Given the description of an element on the screen output the (x, y) to click on. 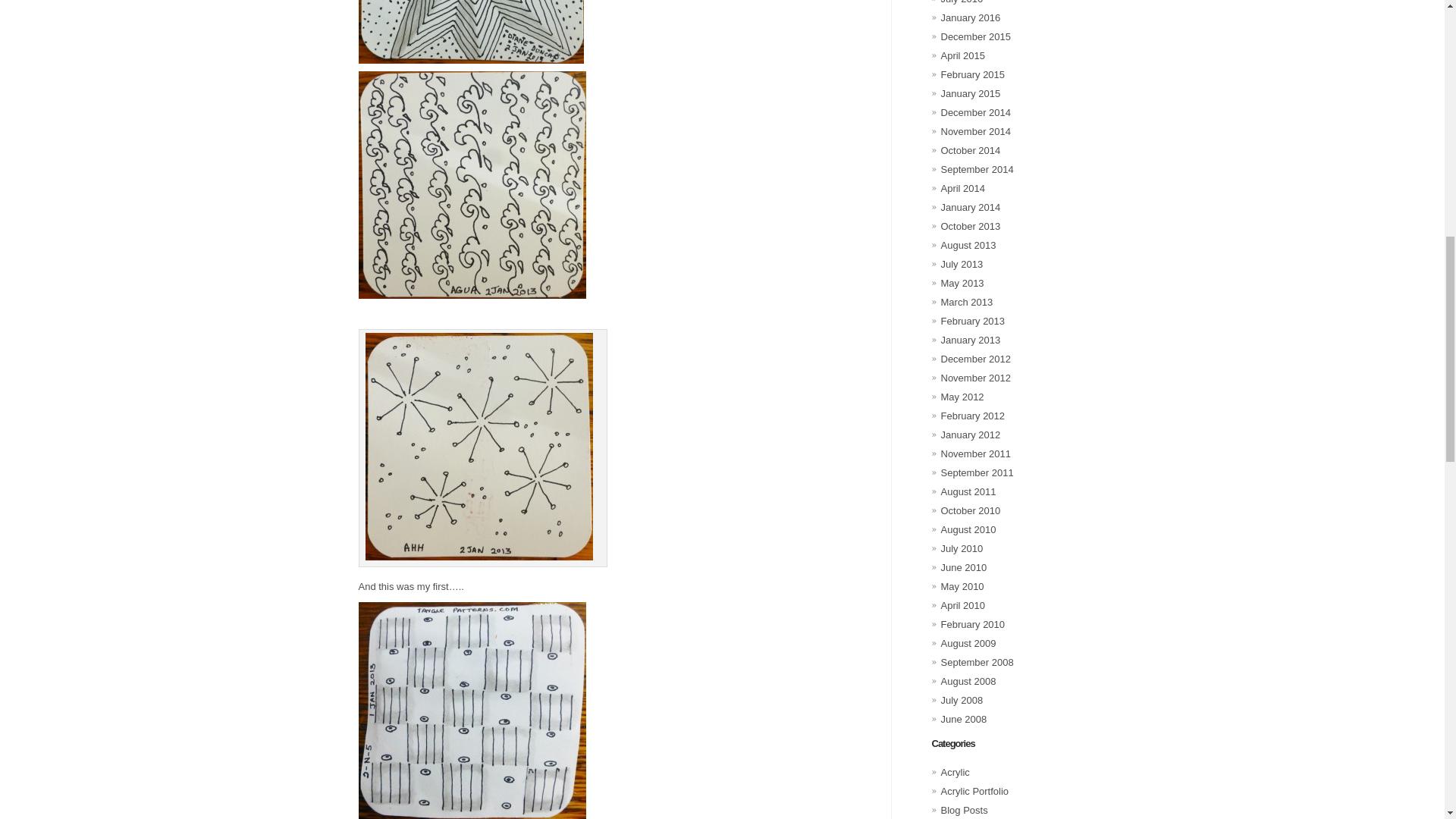
Tangle - 2-N-5 (471, 710)
Tangle - Agua (471, 184)
Tangle - Variation of After Glow (470, 31)
Tangle - Ahh (478, 446)
